Given the description of an element on the screen output the (x, y) to click on. 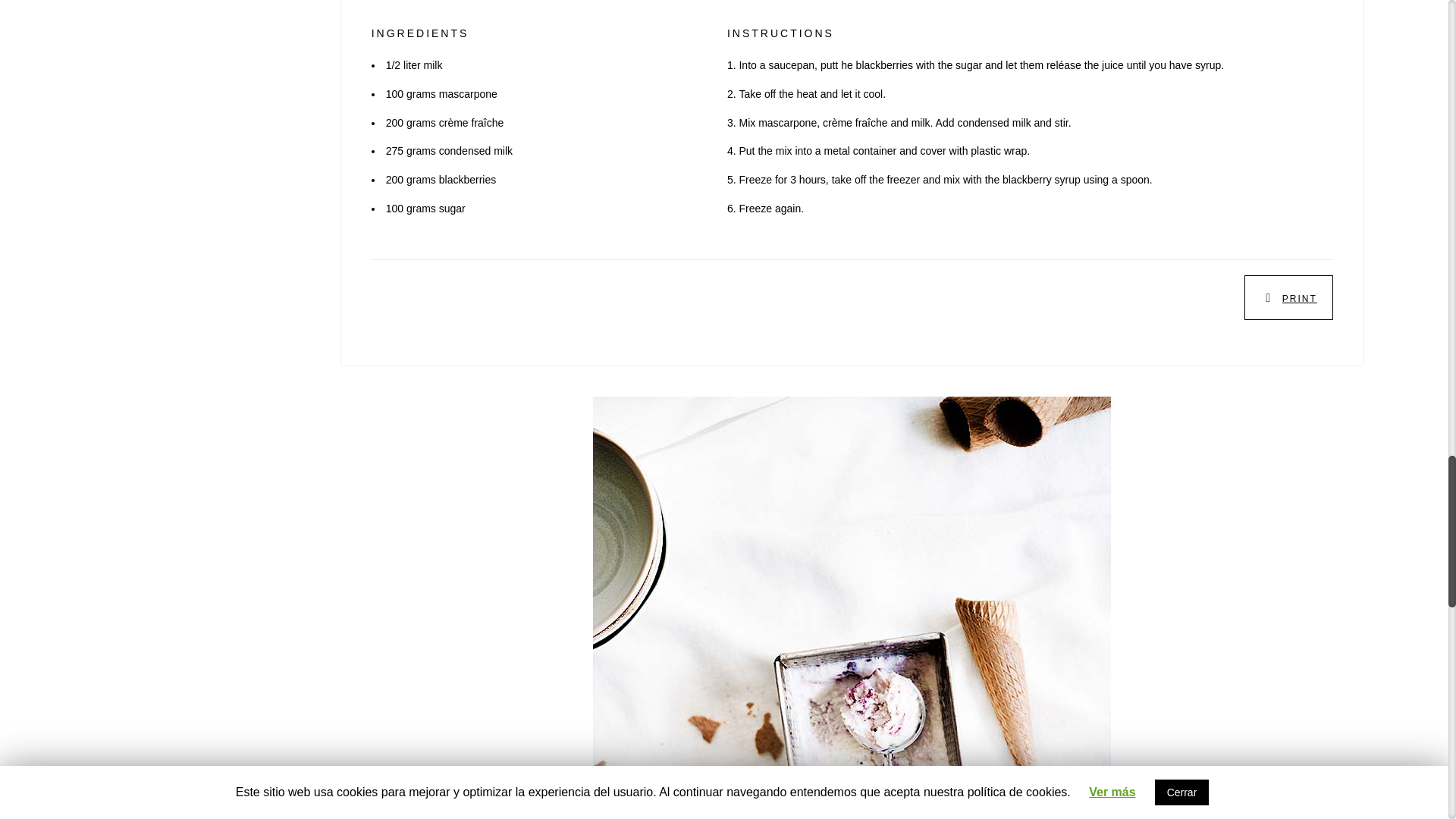
PRINT (1299, 298)
